Given the description of an element on the screen output the (x, y) to click on. 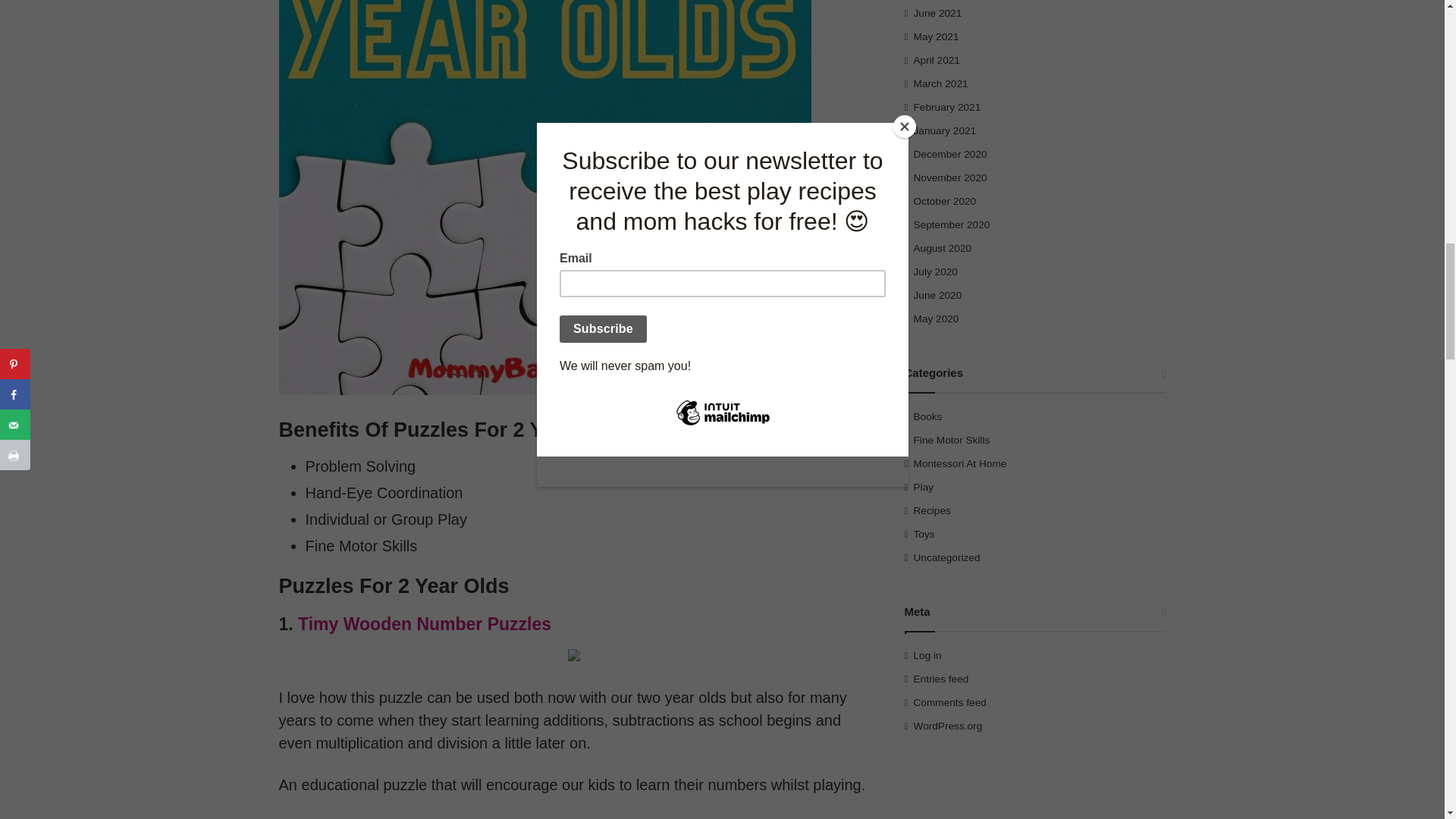
Timy Wooden Number Puzzles  (427, 623)
